Given the description of an element on the screen output the (x, y) to click on. 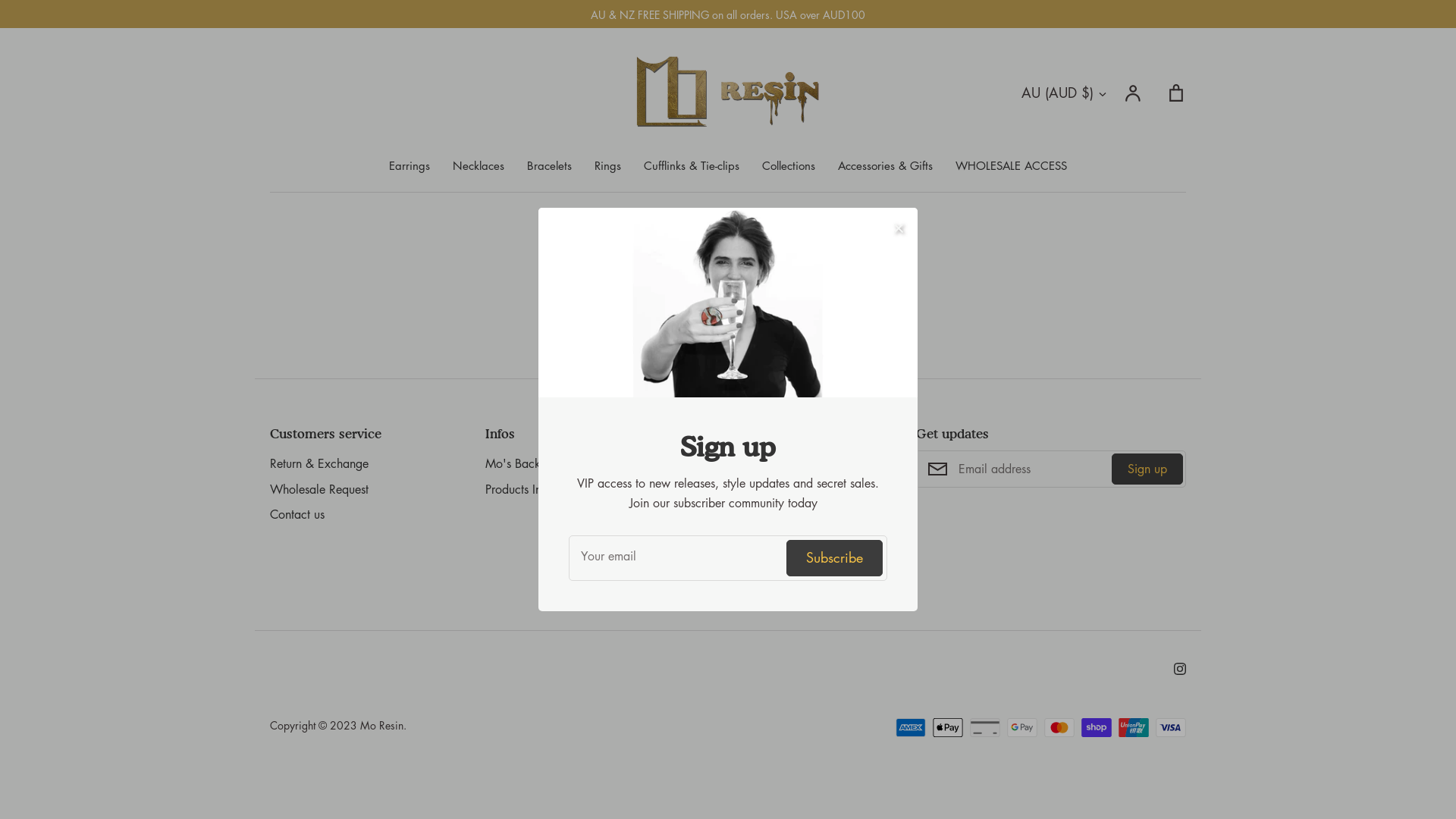
Mo's Background Element type: text (531, 463)
Necklaces Element type: text (727, 514)
Rings Element type: text (714, 566)
Bracelets Element type: text (723, 540)
Products Info Element type: text (518, 489)
Return & Exchange Element type: text (318, 463)
WHOLESALE ACCESS Element type: text (1010, 164)
Art You Can Wear Element type: text (748, 463)
Cufflinks & Tie-clips Element type: text (691, 164)
Account Element type: text (1133, 92)
Accessories & Gifts Element type: text (884, 164)
Earrings Element type: text (409, 164)
Cart Element type: text (1176, 92)
Wholesale Request Element type: text (318, 489)
Bracelets Element type: text (549, 164)
For Men Element type: text (721, 591)
Necklaces Element type: text (478, 164)
Mo Resin Element type: text (381, 724)
Collections Element type: text (788, 164)
Rings Element type: text (607, 164)
Continue shopping Element type: text (727, 314)
Subscribe Element type: text (834, 557)
Earrings Element type: text (721, 489)
Contact us Element type: text (296, 514)
Sign up Element type: text (1147, 468)
AU (AUD $) Element type: text (1064, 92)
